Given the description of an element on the screen output the (x, y) to click on. 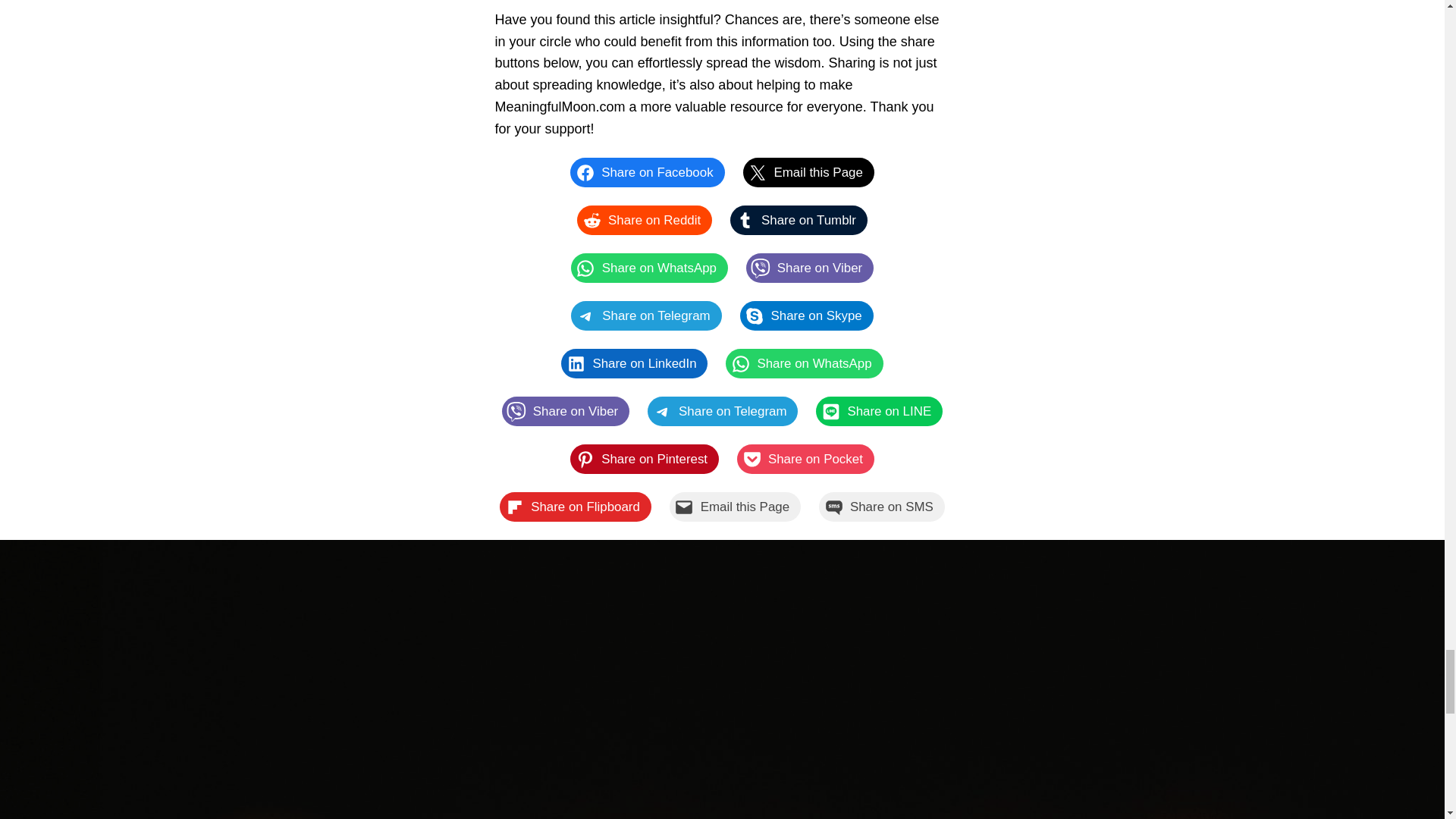
Share on Telegram (645, 315)
Share on Facebook (646, 172)
Email this Page (808, 172)
Share on WhatsApp (649, 267)
Share on Reddit (643, 220)
Share on Viber (809, 267)
Share on Tumblr (798, 220)
